Given the description of an element on the screen output the (x, y) to click on. 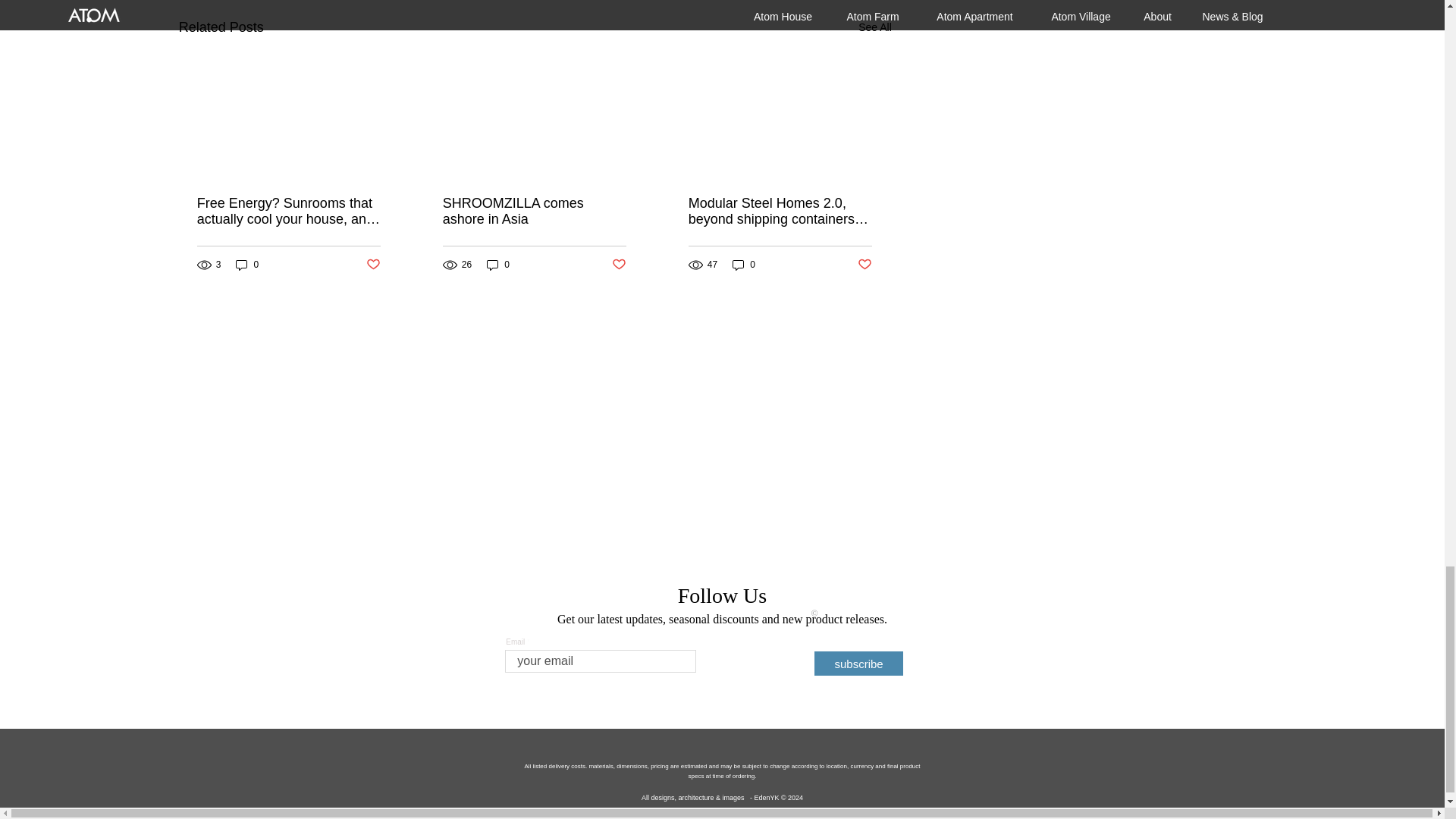
0 (497, 264)
See All (875, 27)
0 (247, 264)
SHROOMZILLA comes ashore in Asia (534, 211)
Post not marked as liked (373, 264)
